Given the description of an element on the screen output the (x, y) to click on. 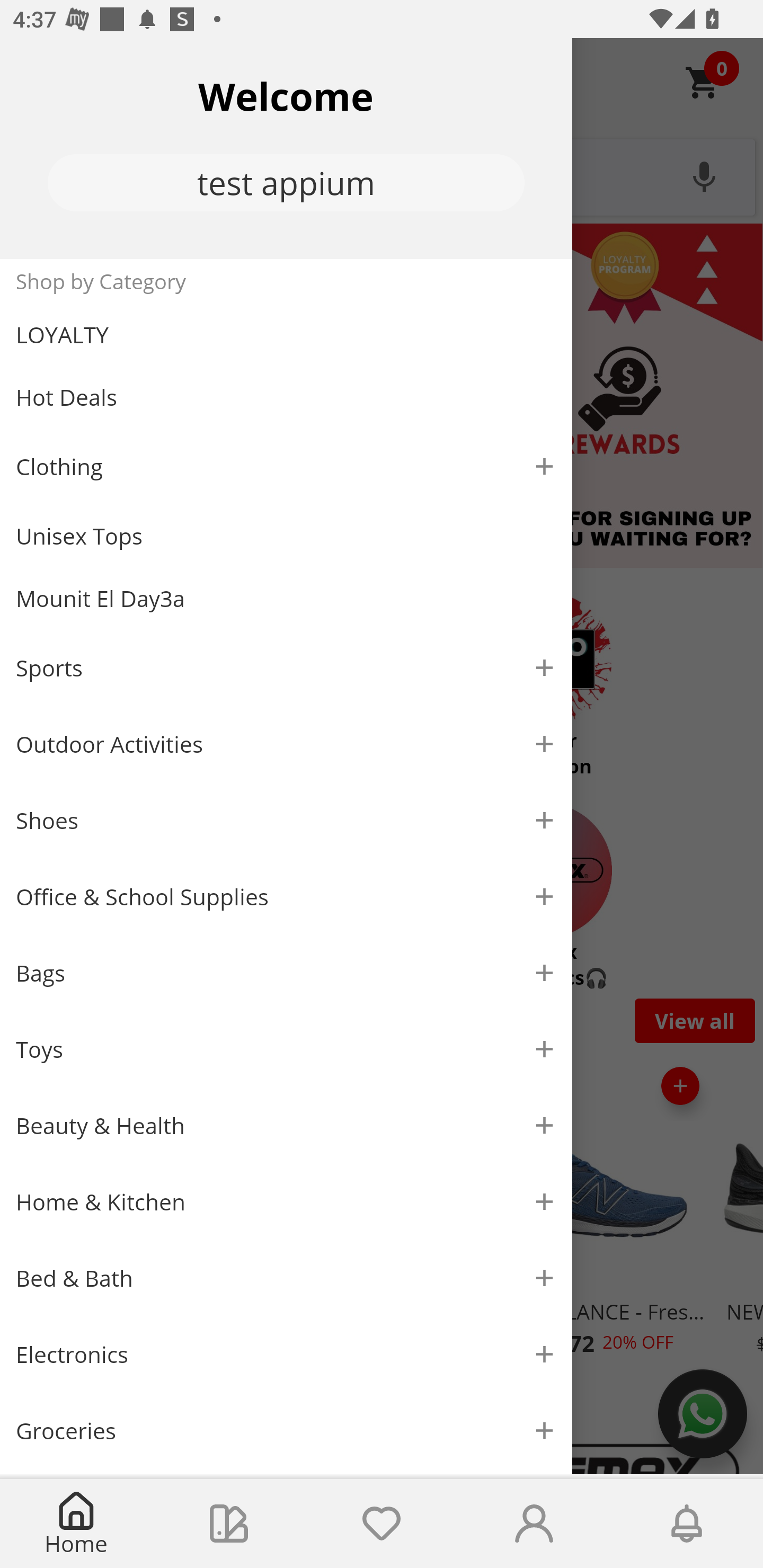
Welcome test appium (286, 147)
Search For Products (381, 175)
LOYALTY (286, 334)
Hot Deals (286, 396)
Clothing (286, 466)
Unisex Tops (286, 535)
Mounit El Day3a (286, 598)
Sports (286, 667)
Outdoor Activities (286, 743)
Shoes (286, 820)
Office & School Supplies (286, 896)
Bags (286, 972)
Toys (286, 1049)
Beauty & Health (286, 1125)
Home & Kitchen (286, 1201)
Bed & Bath (286, 1278)
Electronics (286, 1354)
Groceries (286, 1430)
Collections (228, 1523)
Wishlist (381, 1523)
My Account (533, 1523)
Notifications (686, 1523)
